Given the description of an element on the screen output the (x, y) to click on. 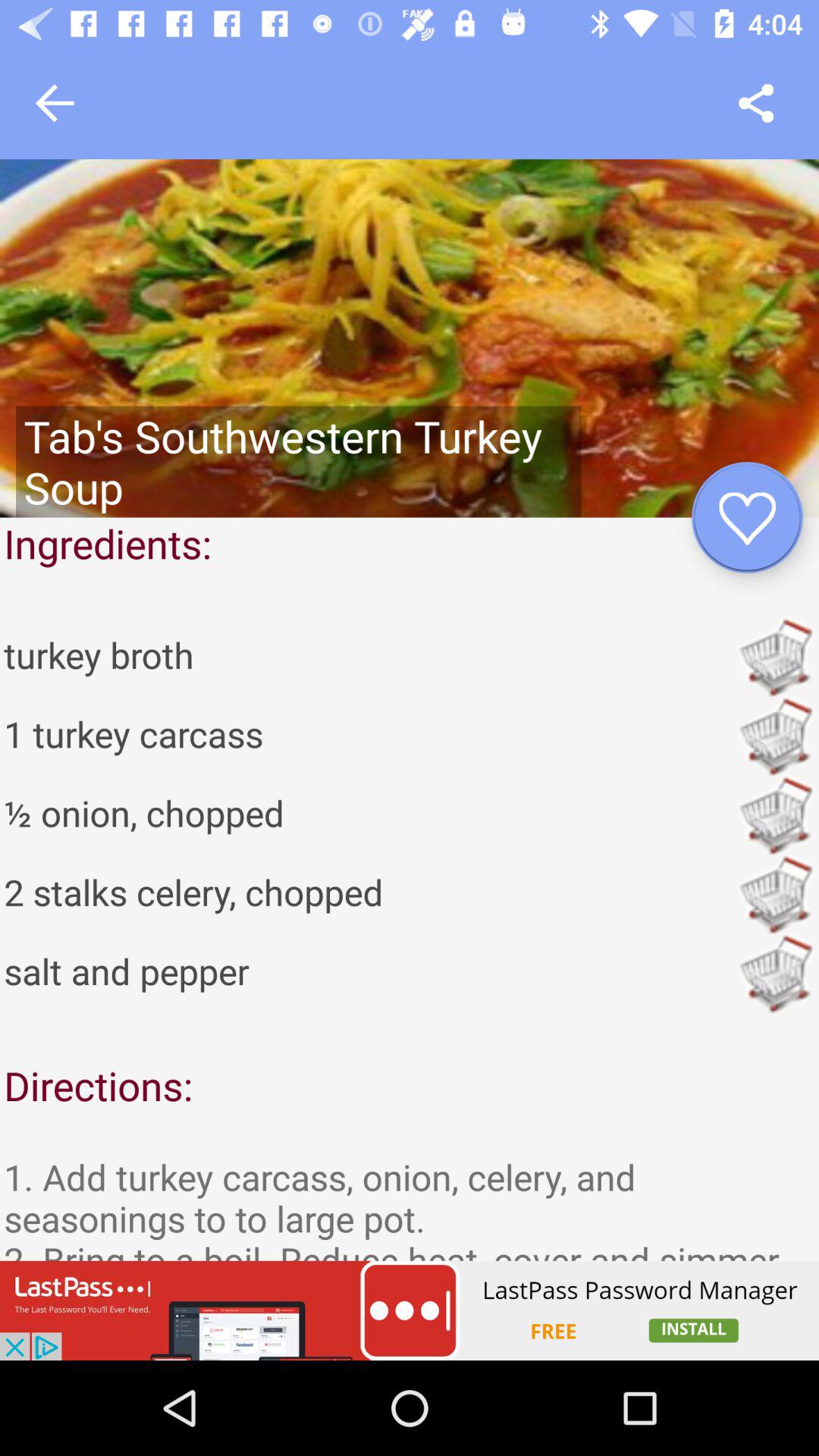
i would love to try their food (756, 103)
